Given the description of an element on the screen output the (x, y) to click on. 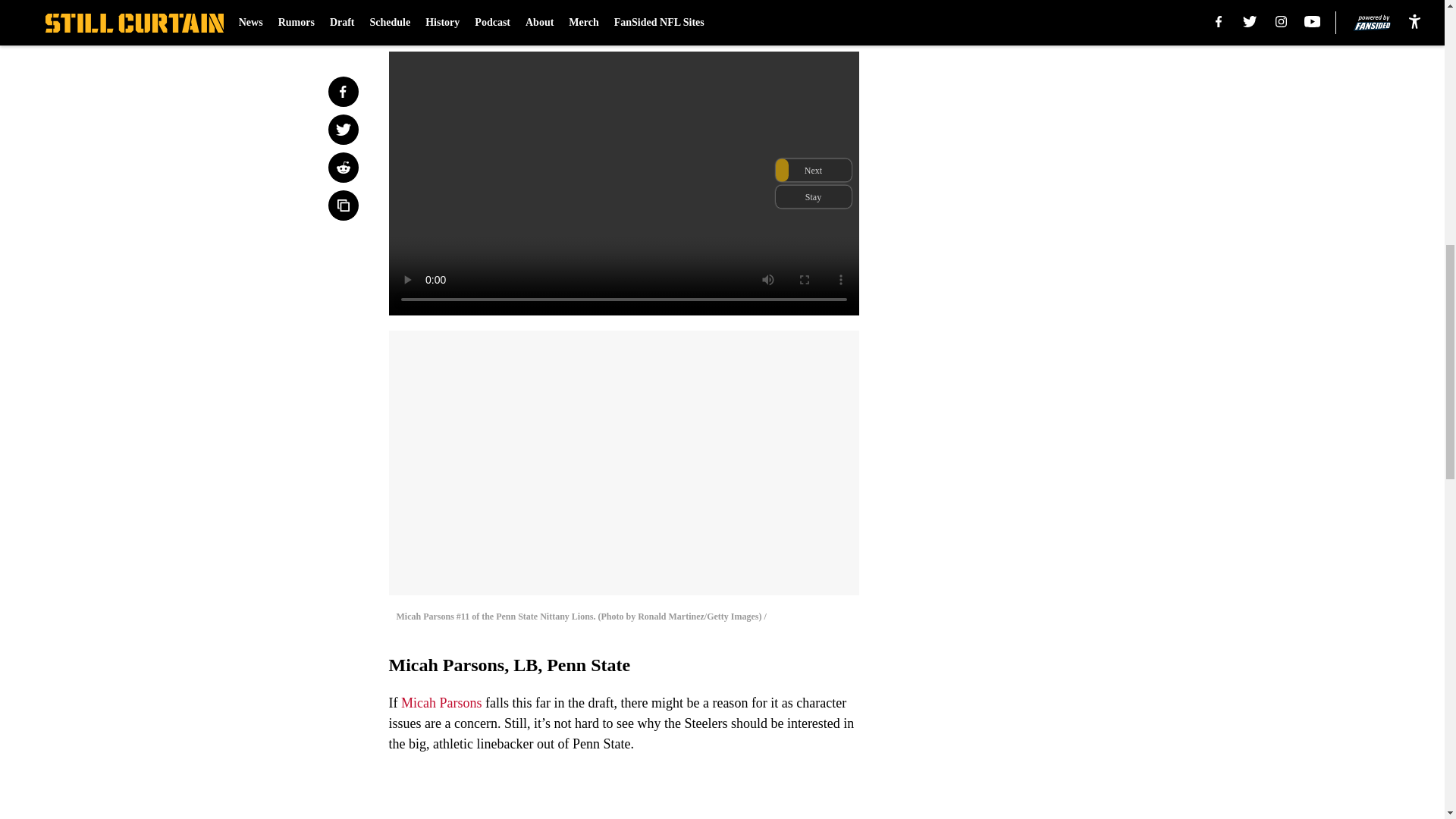
Micah Parsons (441, 702)
Prev (433, 20)
Next (813, 20)
